Given the description of an element on the screen output the (x, y) to click on. 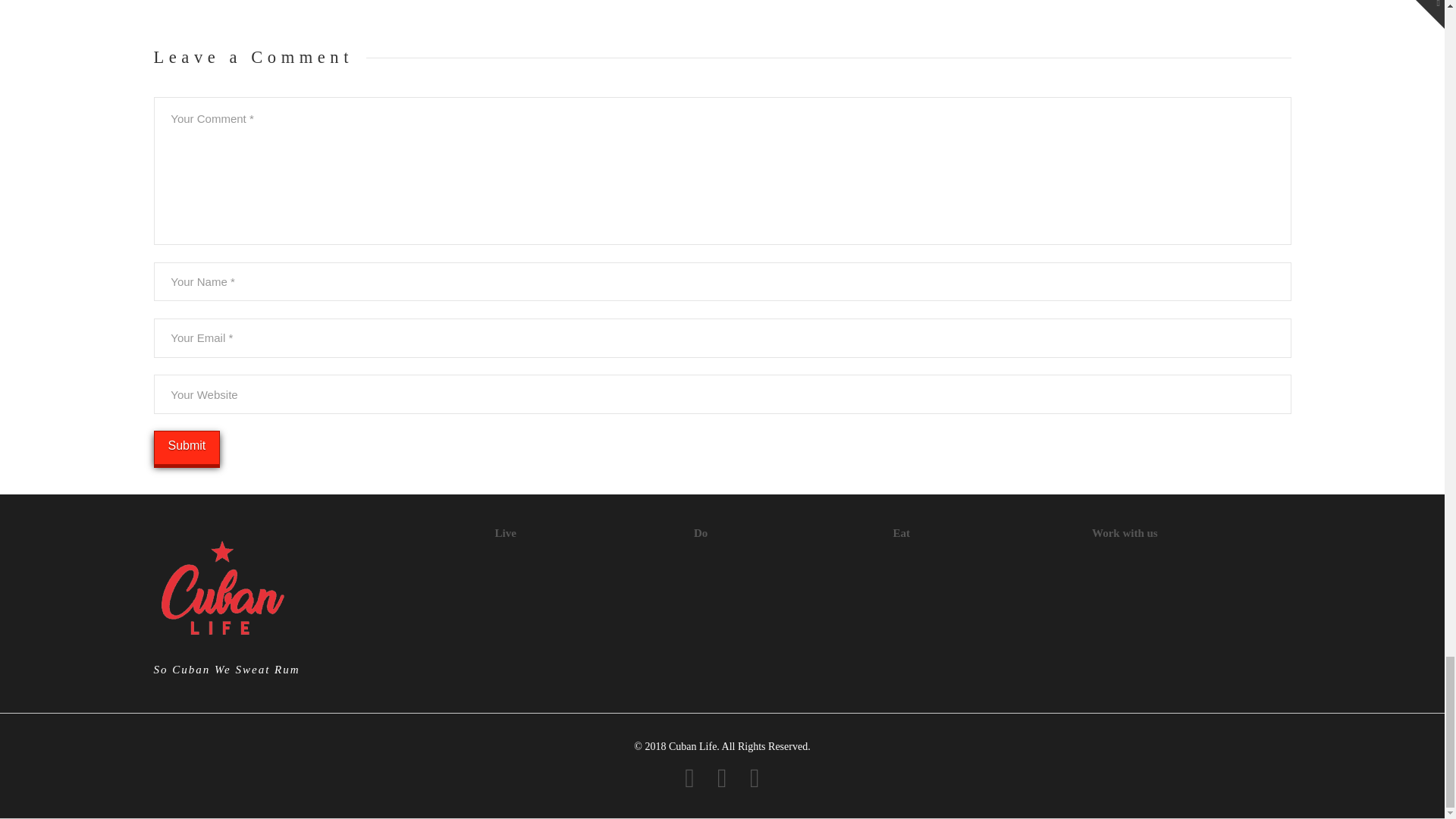
Facebook (689, 777)
Submit (185, 447)
Live (505, 532)
Submit (185, 447)
Instagram (754, 777)
